Given the description of an element on the screen output the (x, y) to click on. 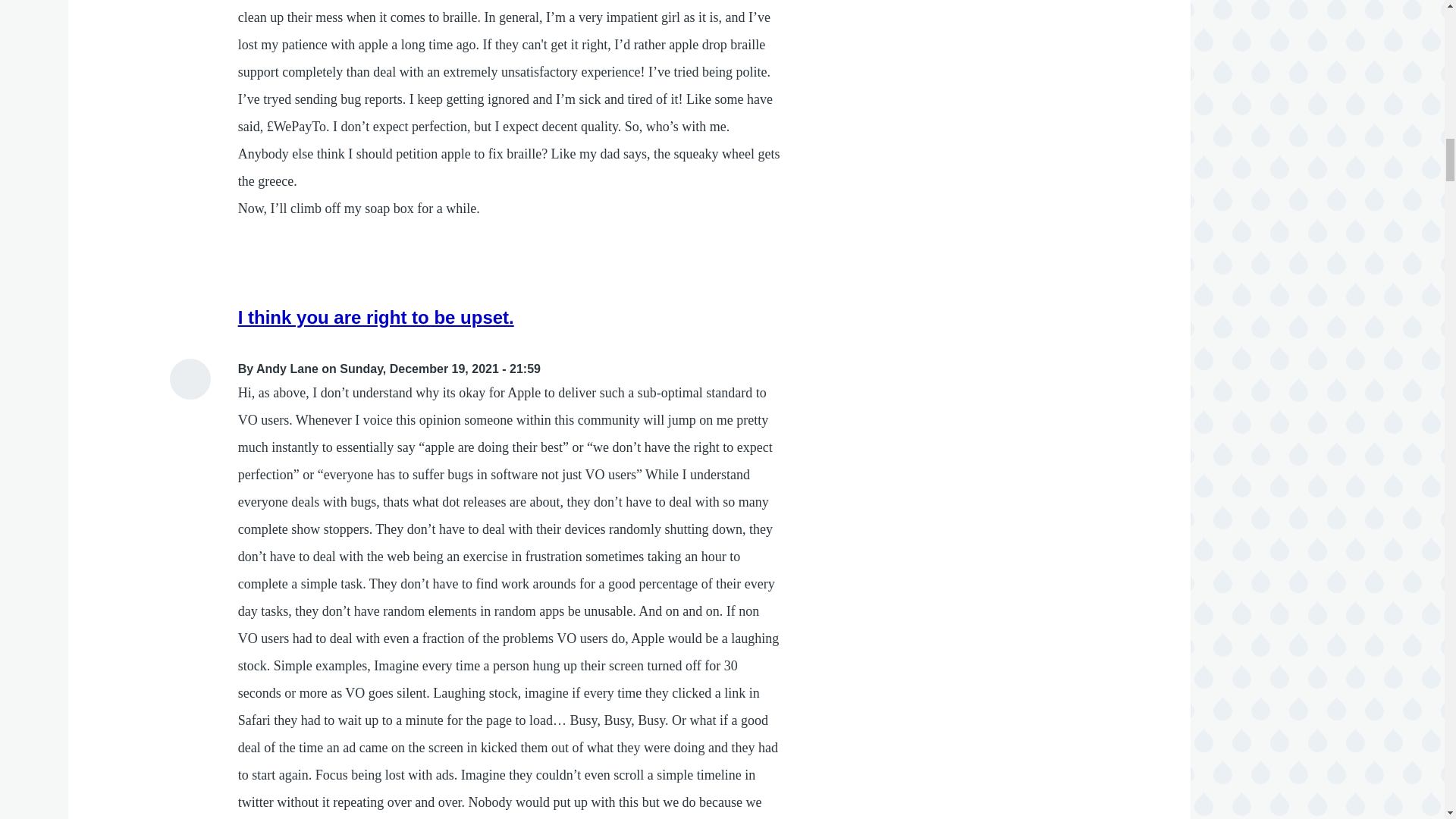
I think you are right to be upset. (375, 317)
